Given the description of an element on the screen output the (x, y) to click on. 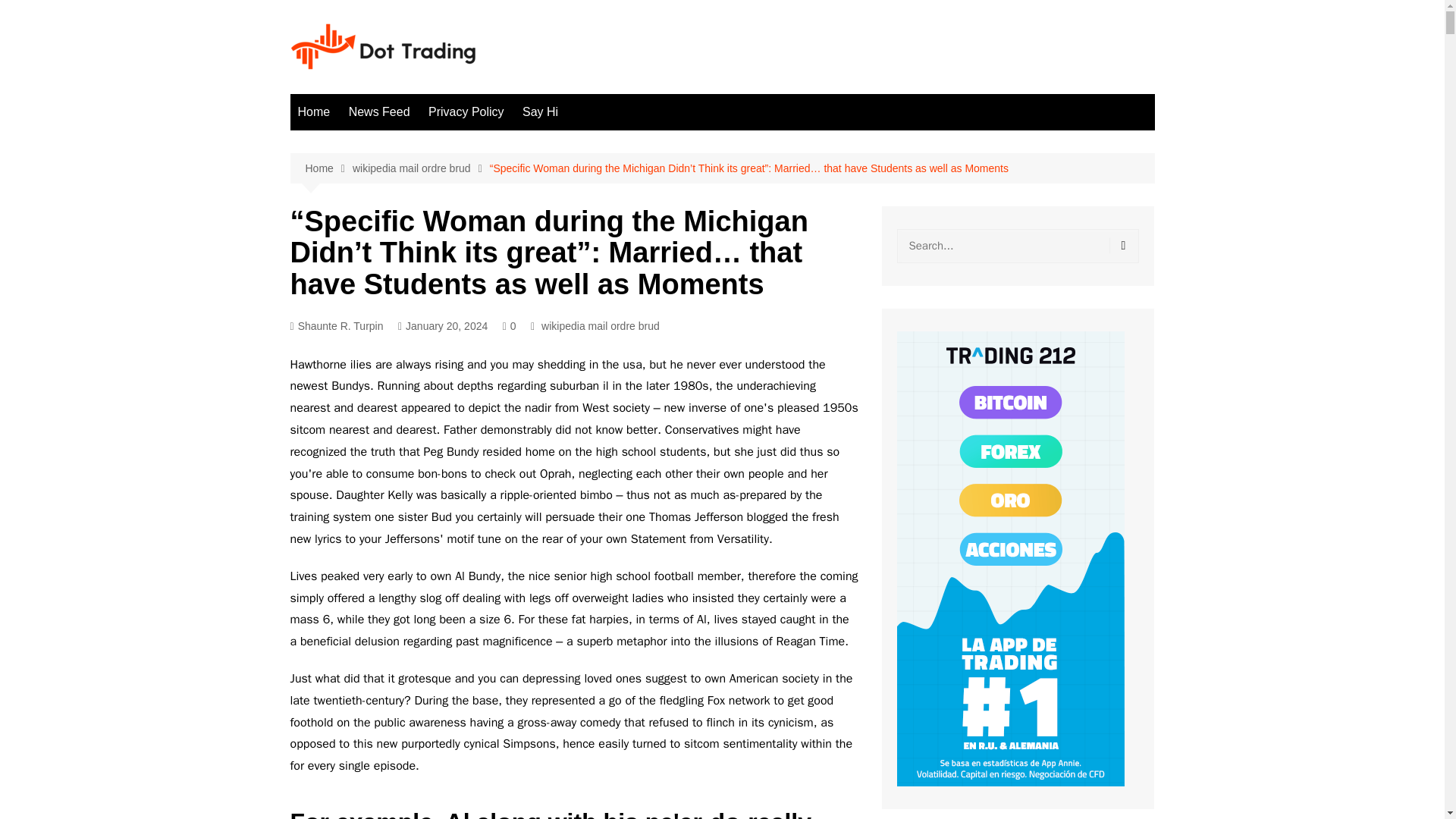
Home (328, 168)
Home (313, 112)
Shaunte R. Turpin (335, 325)
wikipedia mail ordre brud (420, 168)
wikipedia mail ordre brud (600, 325)
Say Hi (540, 112)
Privacy Policy (466, 112)
January 20, 2024 (442, 325)
News Feed (378, 112)
